Given the description of an element on the screen output the (x, y) to click on. 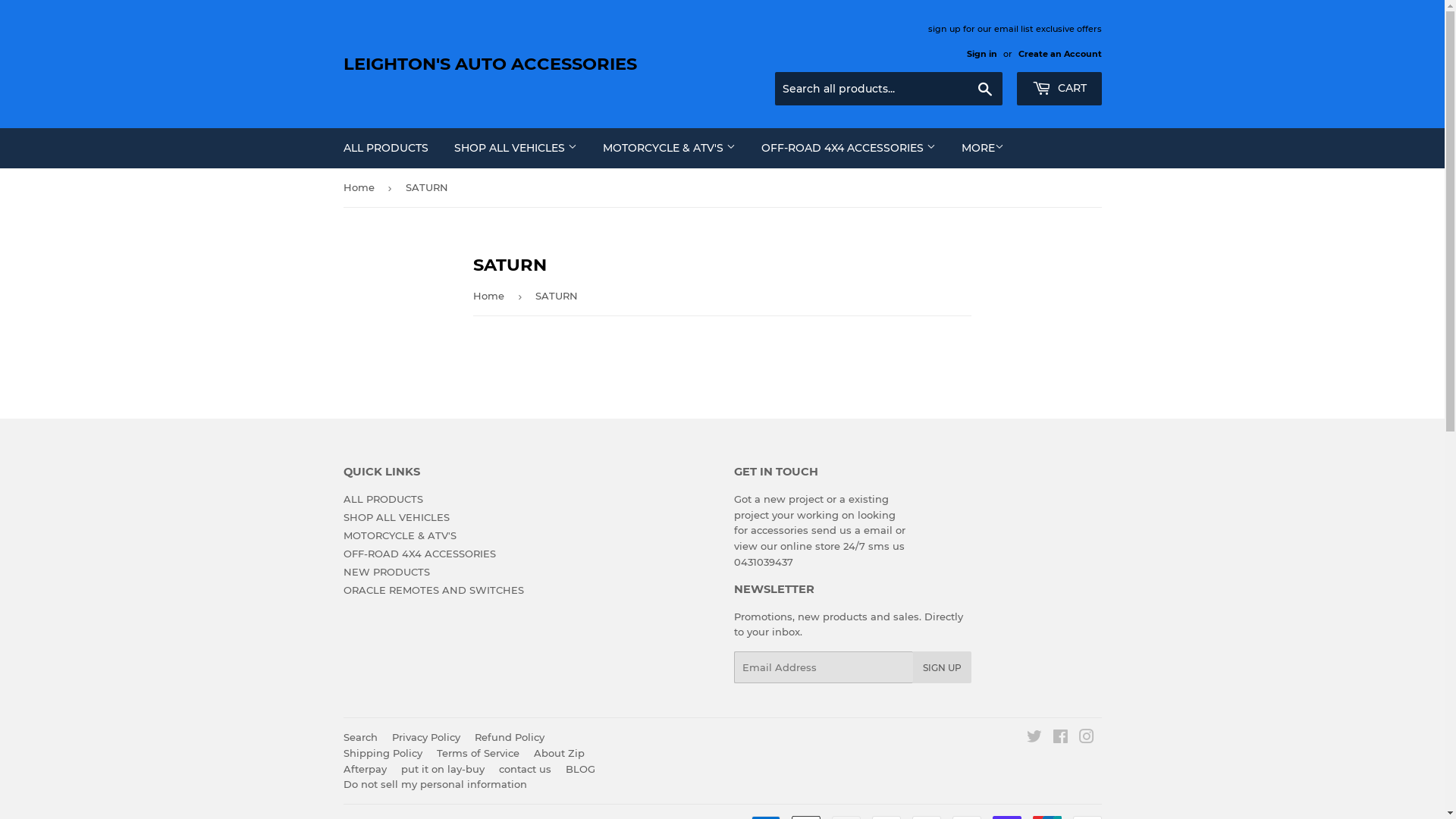
SIGN UP Element type: text (942, 667)
CART Element type: text (1058, 88)
NEW PRODUCTS Element type: text (385, 571)
Create an Account Element type: text (1059, 53)
Search Element type: text (359, 737)
Sign in Element type: text (981, 53)
ORACLE REMOTES AND SWITCHES Element type: text (432, 589)
OFF-ROAD 4X4 ACCESSORIES Element type: text (418, 553)
MORE Element type: text (981, 147)
contact us Element type: text (524, 768)
BLOG Element type: text (580, 768)
SHOP ALL VEHICLES Element type: text (395, 517)
LEIGHTON'S AUTO ACCESSORIES Element type: text (531, 64)
Search Element type: text (984, 89)
MOTORCYCLE & ATV'S Element type: text (398, 535)
Twitter Element type: text (1033, 738)
SHOP ALL VEHICLES Element type: text (515, 147)
Instagram Element type: text (1085, 738)
Afterpay Element type: text (363, 768)
Do not sell my personal information Element type: text (434, 784)
ALL PRODUCTS Element type: text (382, 498)
OFF-ROAD 4X4 ACCESSORIES Element type: text (847, 147)
Refund Policy Element type: text (509, 737)
Facebook Element type: text (1060, 738)
Shipping Policy Element type: text (381, 752)
put it on lay-buy Element type: text (441, 768)
Terms of Service Element type: text (477, 752)
MOTORCYCLE & ATV'S Element type: text (668, 147)
ALL PRODUCTS Element type: text (385, 147)
Home Element type: text (491, 295)
About Zip Element type: text (558, 752)
Privacy Policy Element type: text (425, 737)
Home Element type: text (360, 187)
